Given the description of an element on the screen output the (x, y) to click on. 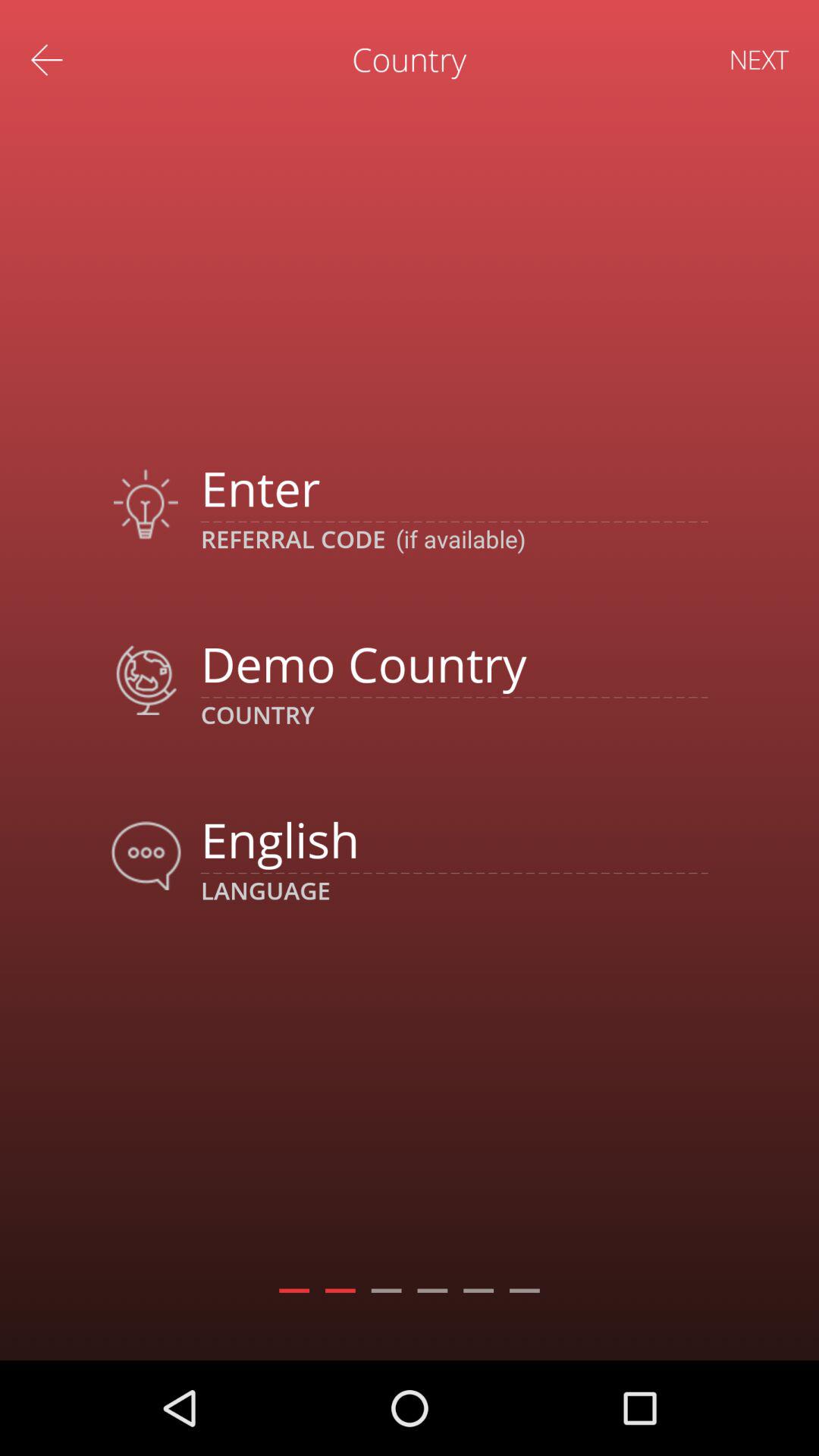
choose the demo country (454, 663)
